Given the description of an element on the screen output the (x, y) to click on. 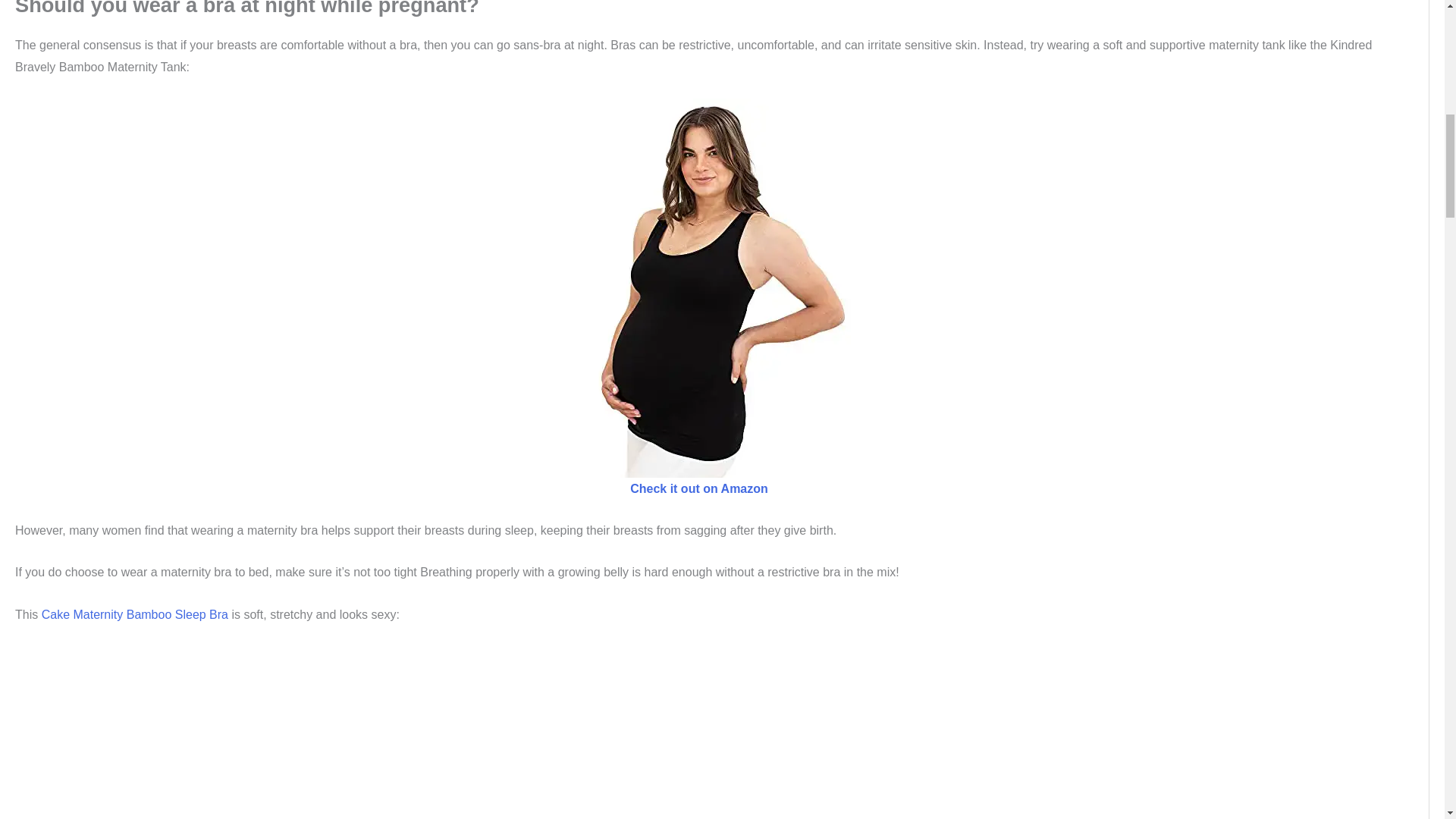
Cake Maternity Bamboo Sleep Bra (135, 614)
